Given the description of an element on the screen output the (x, y) to click on. 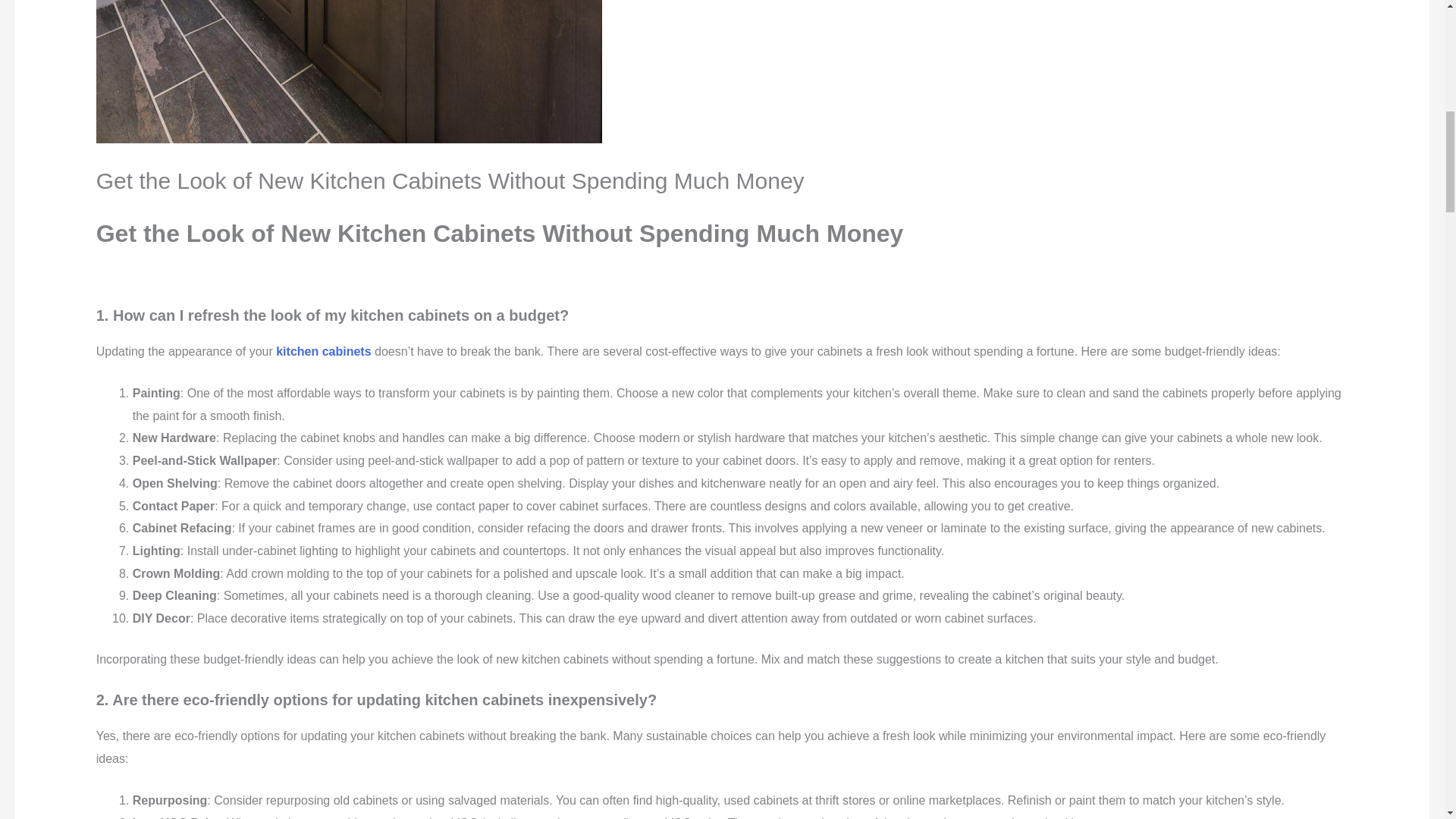
kitchen cabinets (323, 350)
